Given the description of an element on the screen output the (x, y) to click on. 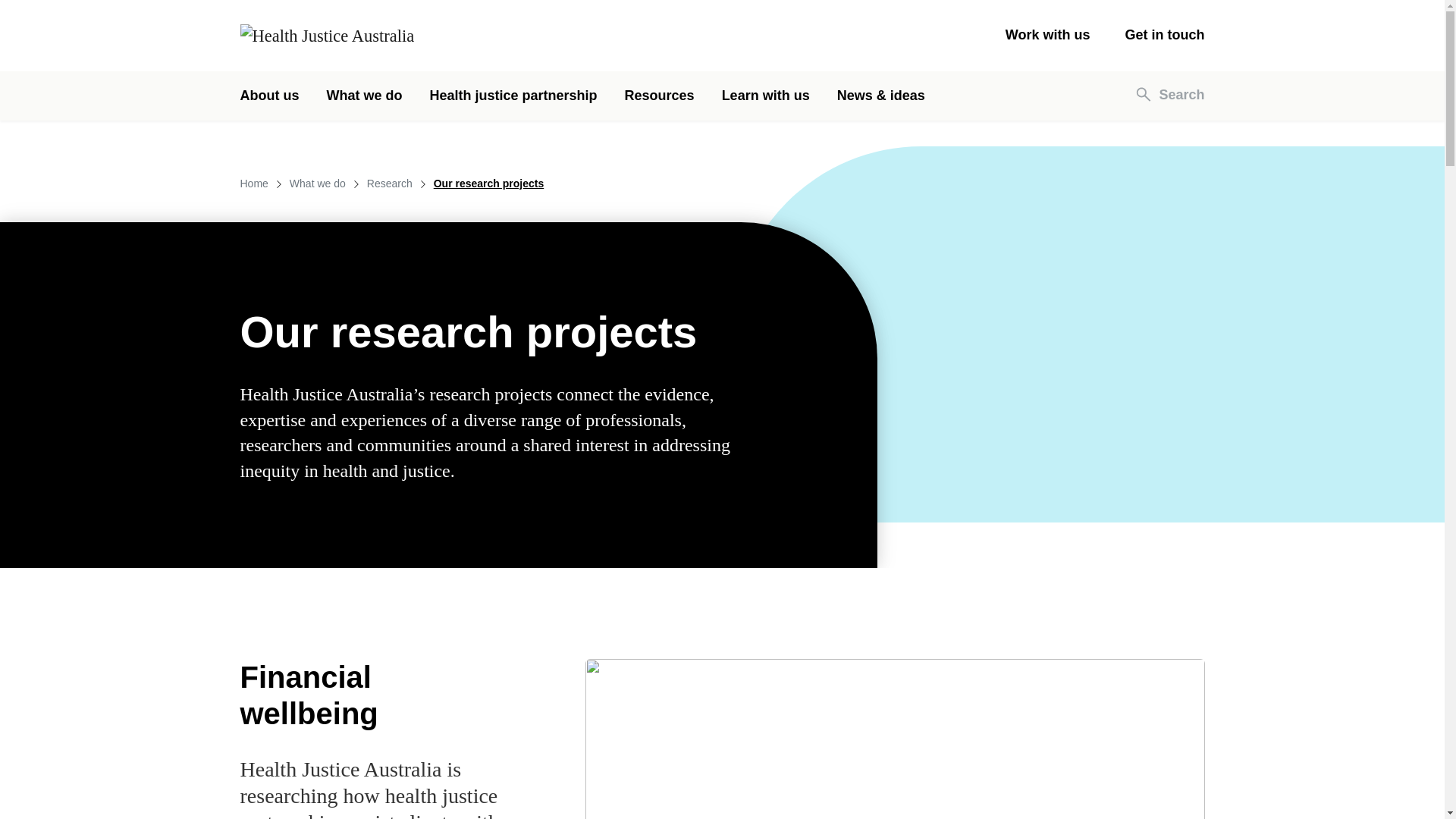
Get in touch (1165, 35)
Health justice partnership (512, 96)
Learn with us (765, 96)
Go to Health Justice Australia. (253, 183)
Go to the Research archives. (389, 183)
What we do (363, 96)
Work with us (1048, 35)
Go to the What we do archives. (317, 183)
Resources (659, 96)
About us (269, 96)
